Given the description of an element on the screen output the (x, y) to click on. 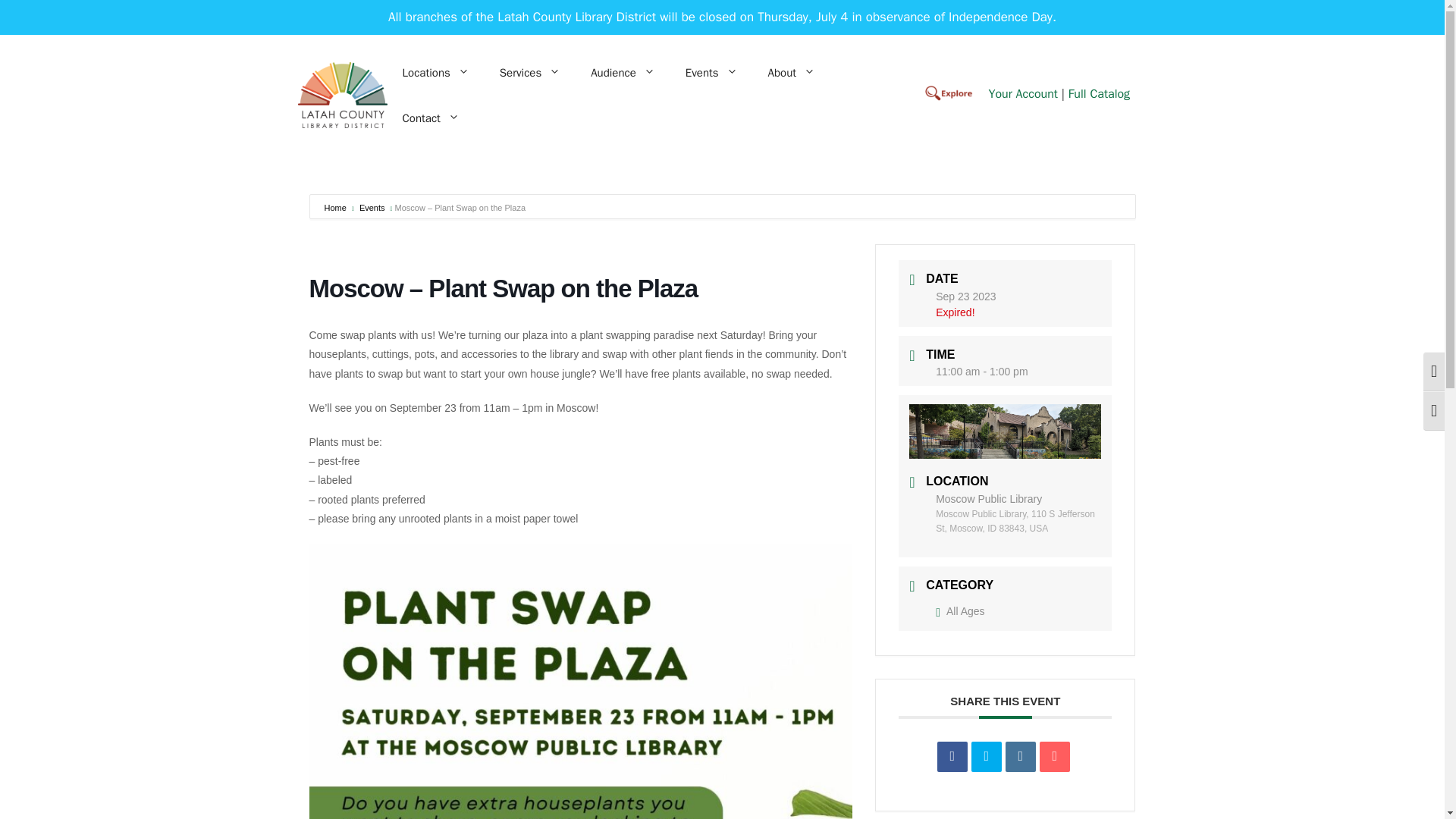
Locations (435, 72)
Services (529, 72)
